Given the description of an element on the screen output the (x, y) to click on. 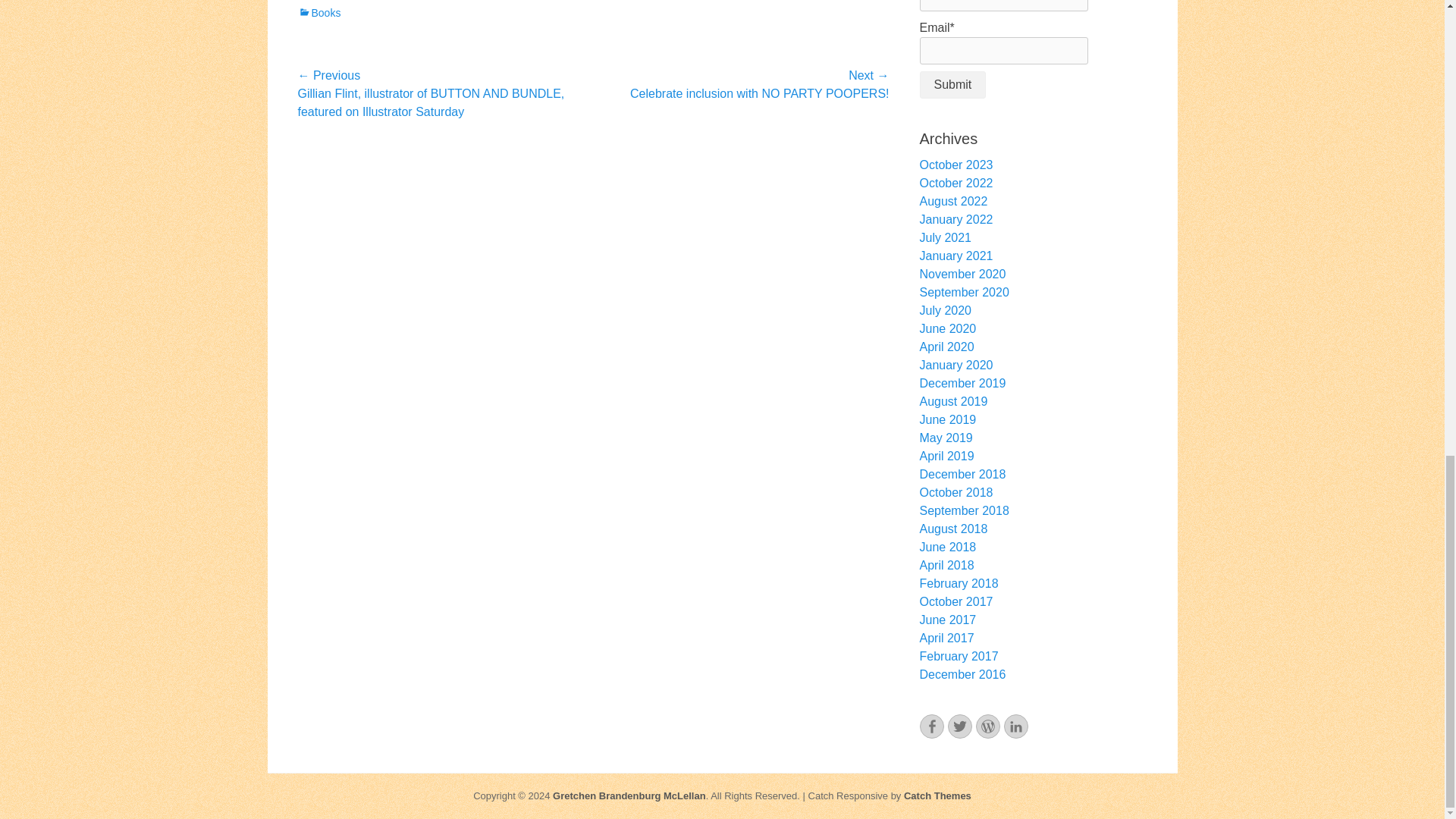
Facebook (930, 726)
Submit (951, 84)
